Given the description of an element on the screen output the (x, y) to click on. 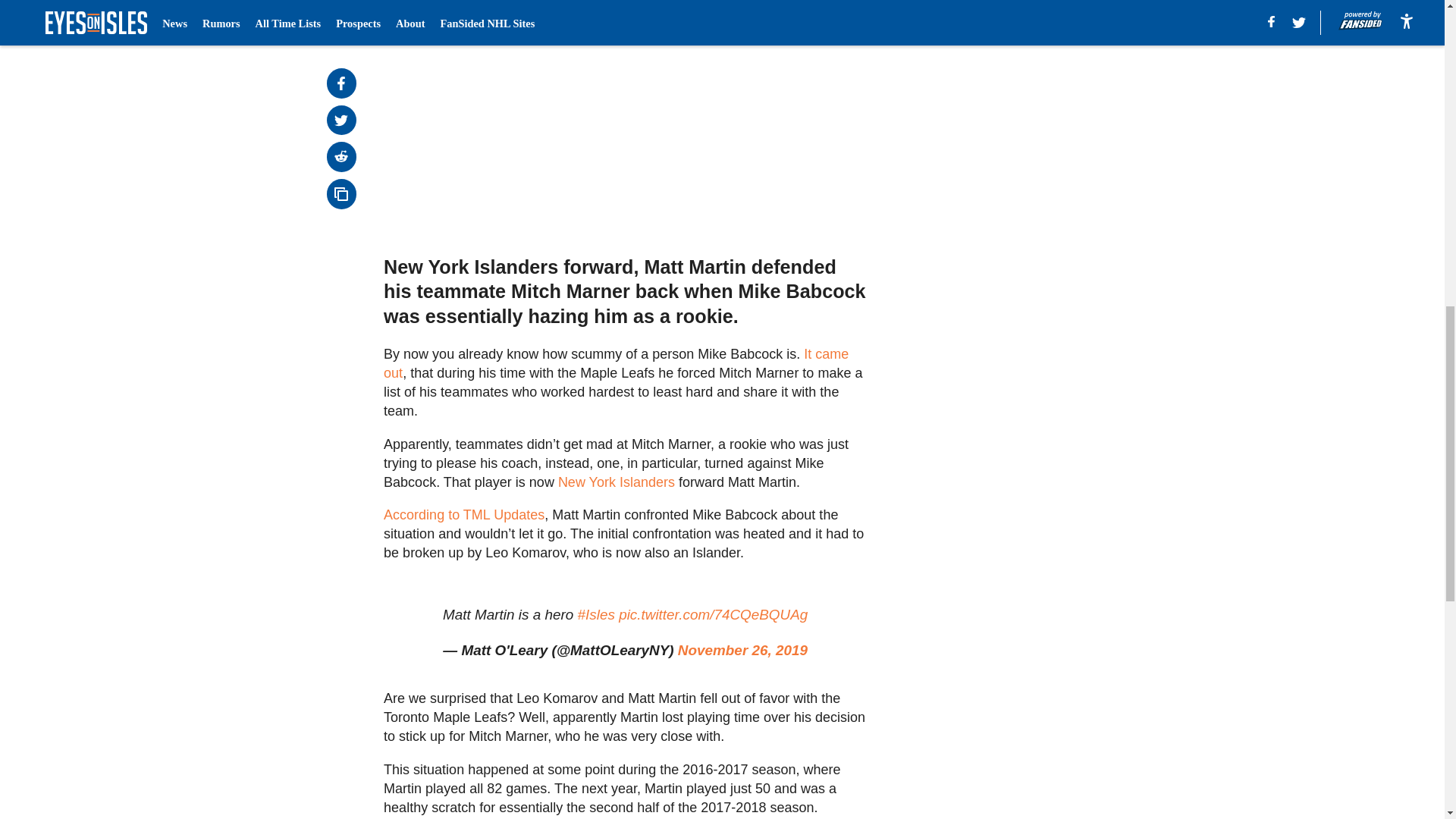
It came out (616, 363)
November 26, 2019 (743, 650)
According to TML Updates (464, 514)
New York Islanders (616, 482)
